Given the description of an element on the screen output the (x, y) to click on. 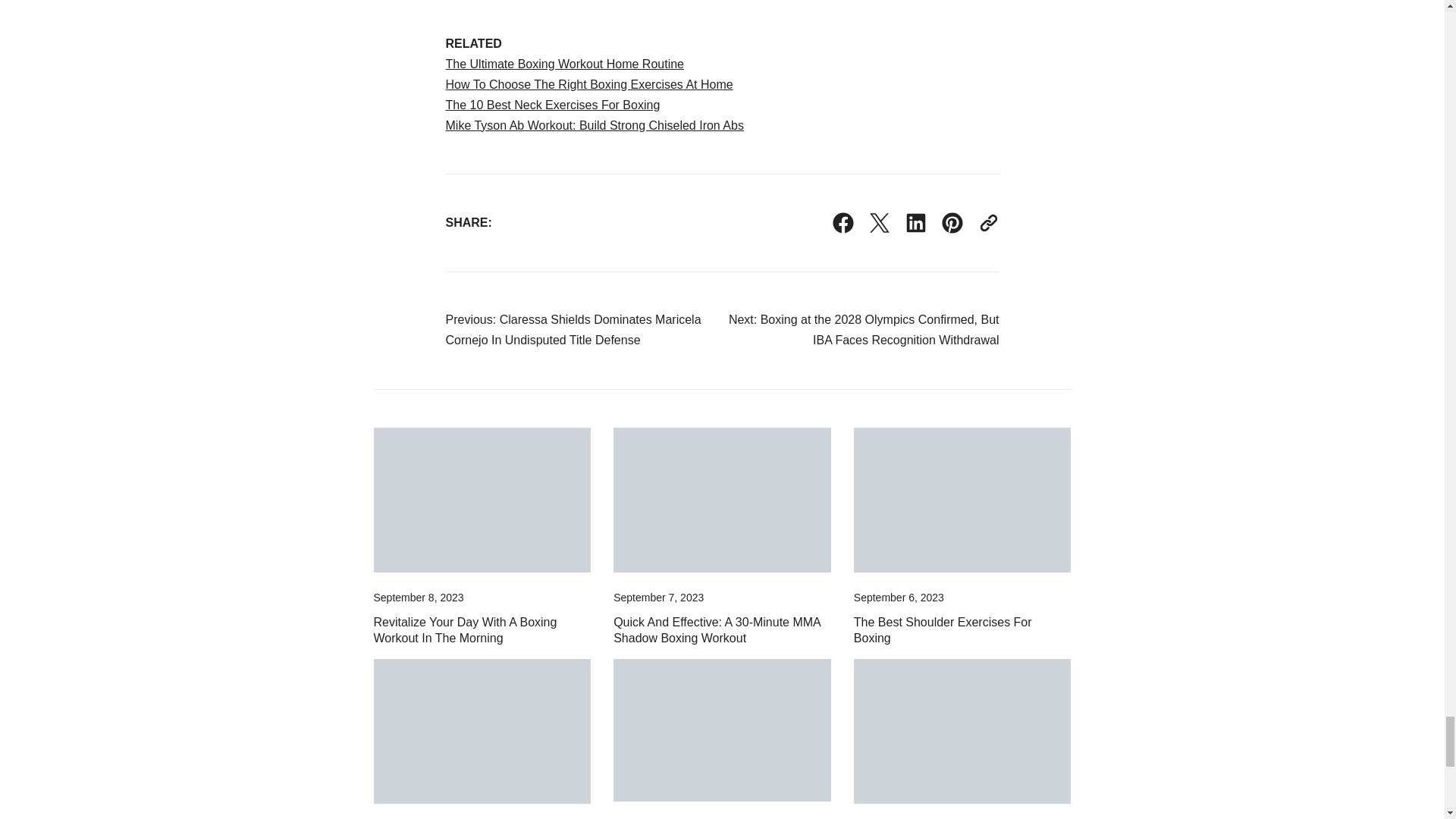
Copy Link (988, 222)
Pinterest (952, 222)
Facebook (842, 222)
Twitter (879, 222)
LinkedIn (915, 222)
